Given the description of an element on the screen output the (x, y) to click on. 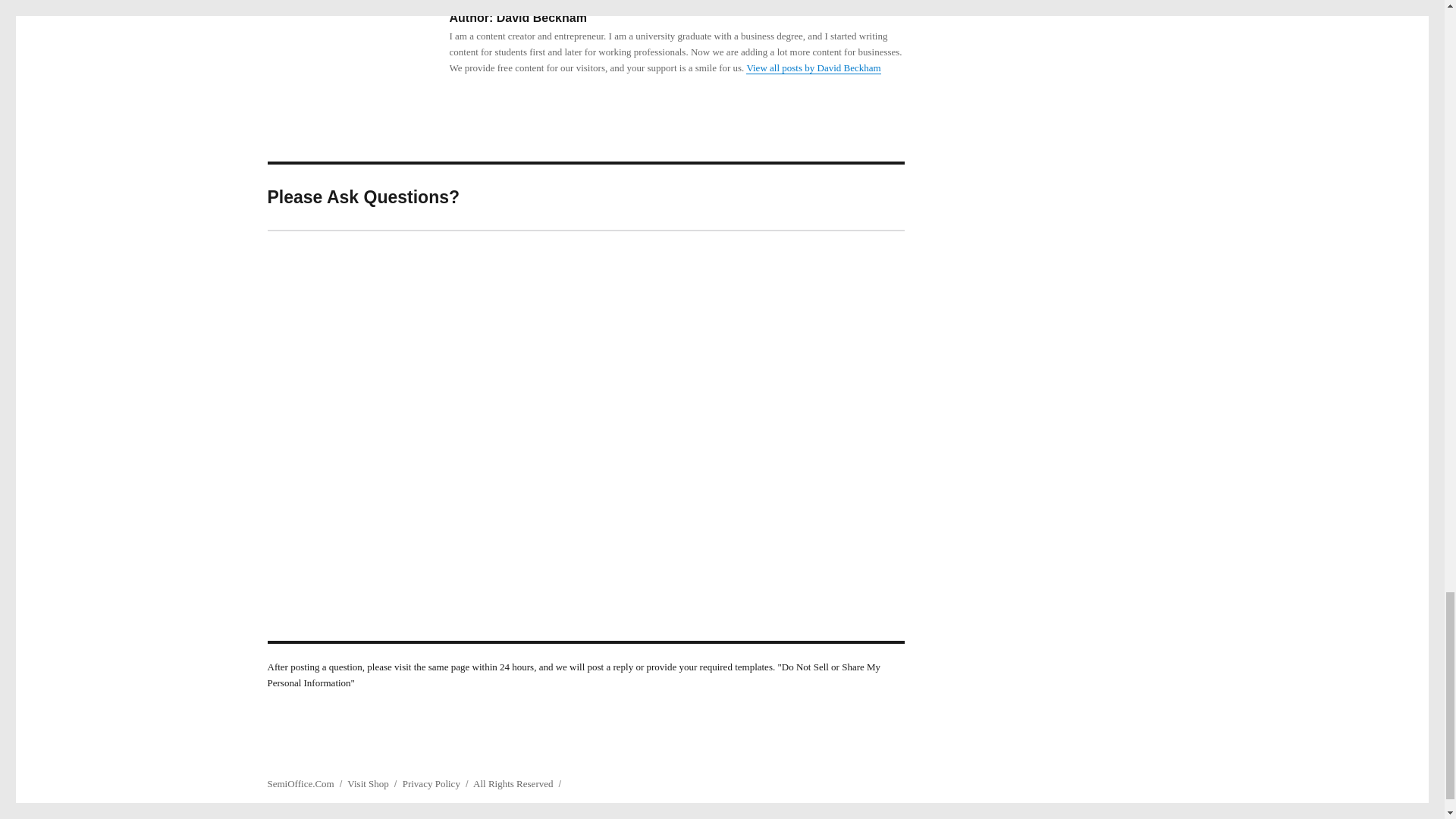
Privacy Policy (431, 783)
All Rights Reserved (513, 783)
SemiOffice.Com (299, 783)
View all posts by David Beckham (812, 67)
Visit Shop (367, 783)
